Given the description of an element on the screen output the (x, y) to click on. 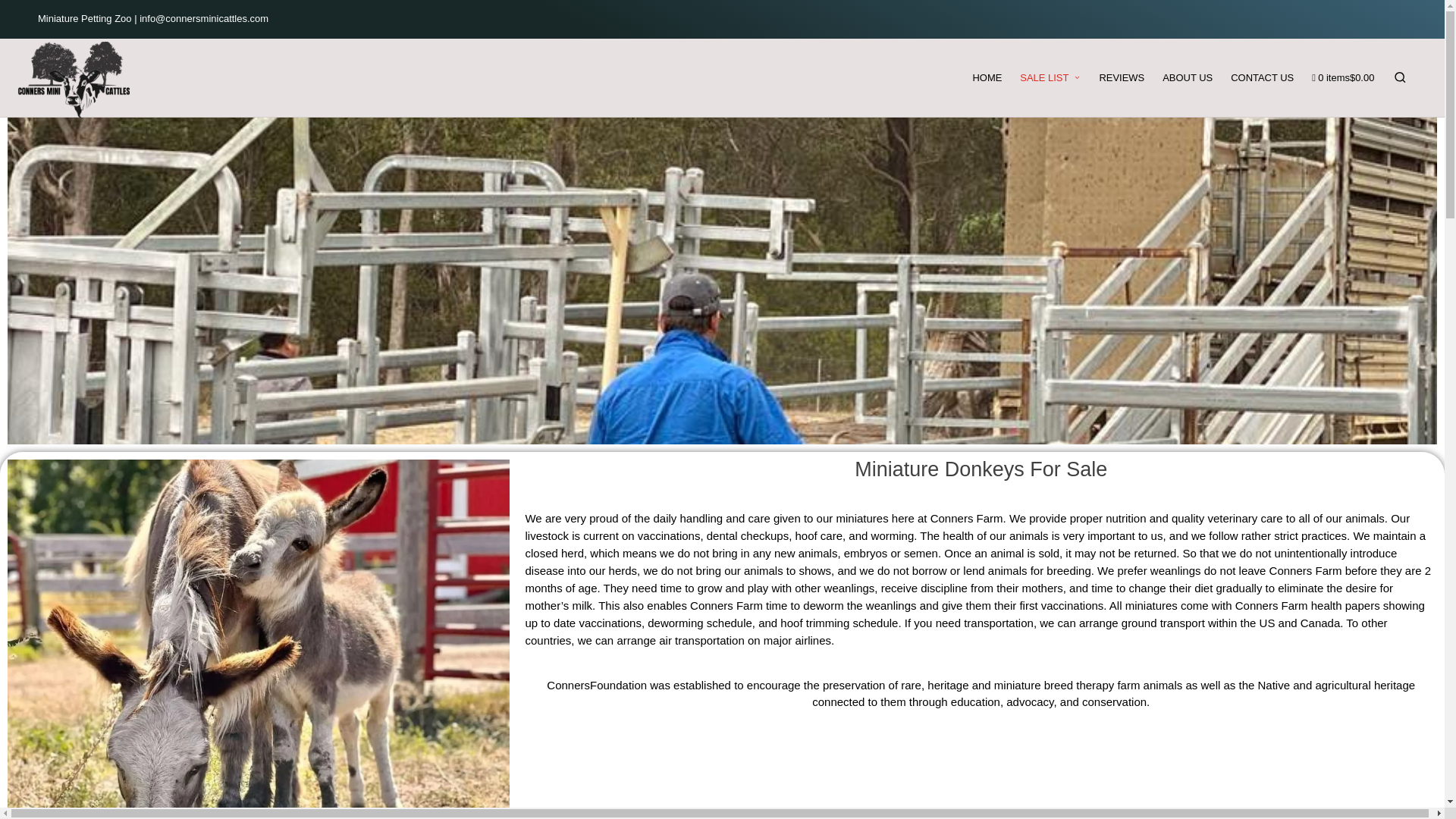
Start shopping (1342, 77)
REVIEWS (1121, 77)
CONTACT US (1262, 77)
SALE LIST (1050, 77)
HOME (986, 77)
ABOUT US (1186, 77)
